Given the description of an element on the screen output the (x, y) to click on. 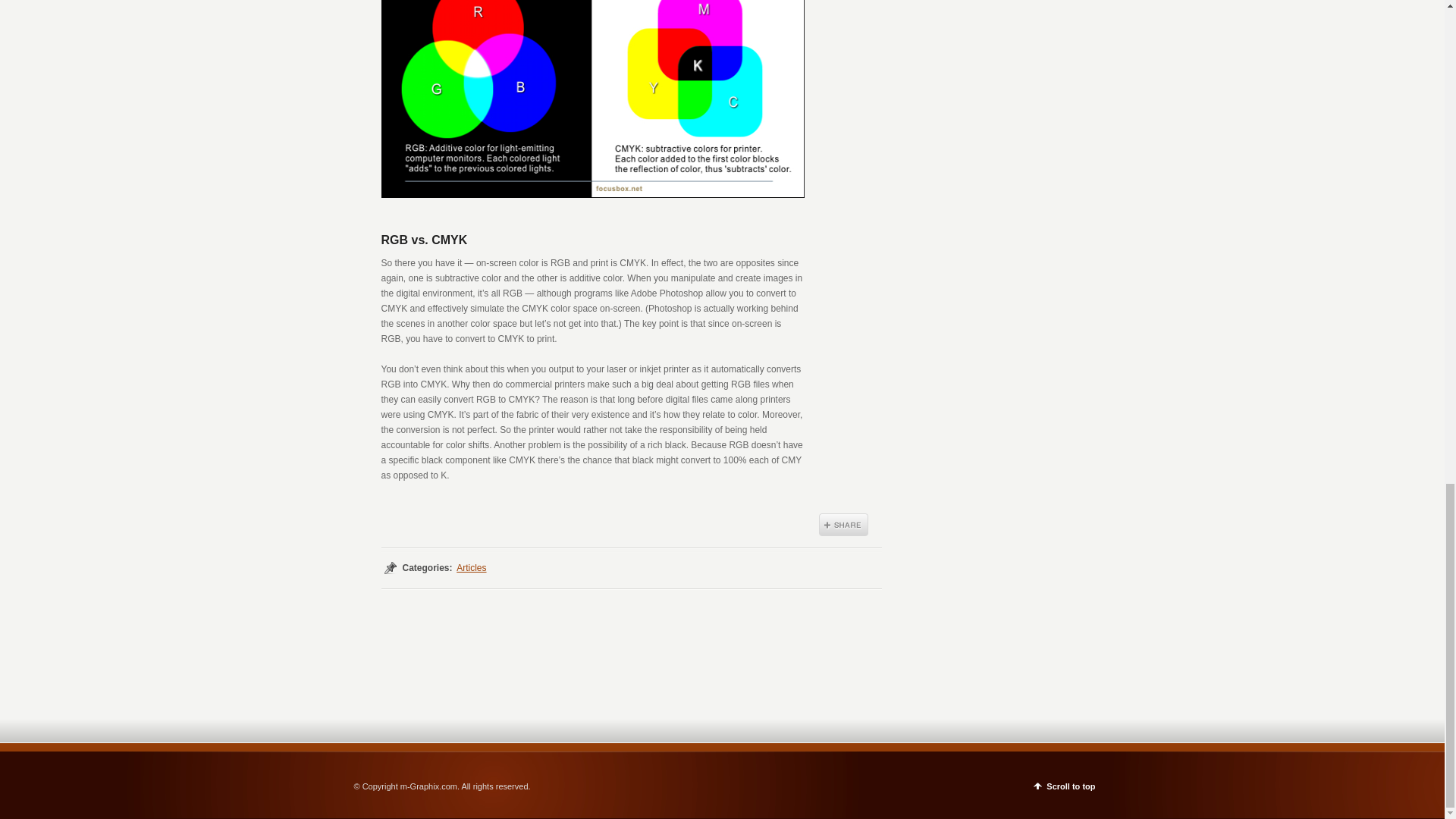
Share (842, 524)
Articles (471, 567)
Scroll to top (1063, 784)
